Given the description of an element on the screen output the (x, y) to click on. 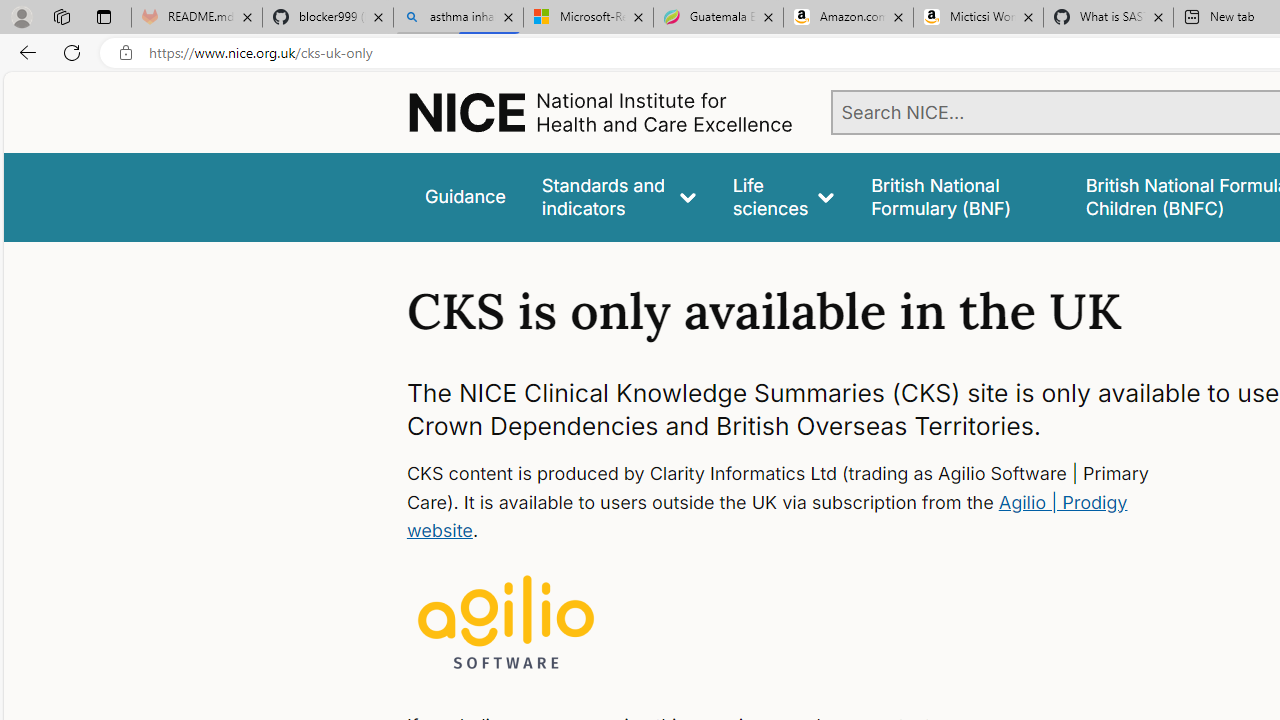
Logo for Clarity Consulting (505, 624)
Agilio | Prodigy website (766, 516)
